Given the description of an element on the screen output the (x, y) to click on. 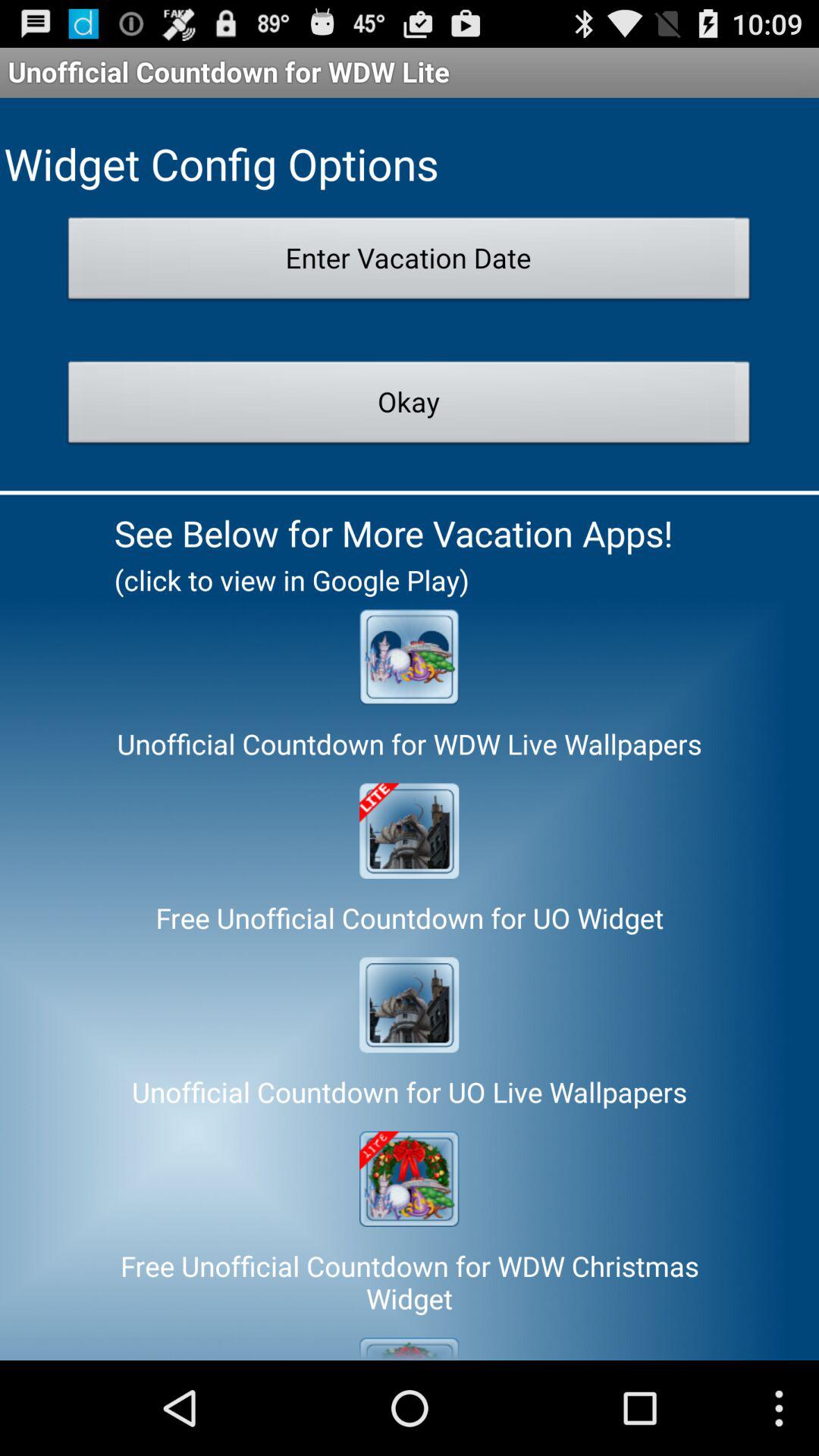
launch the enter vacation date button (408, 262)
